Given the description of an element on the screen output the (x, y) to click on. 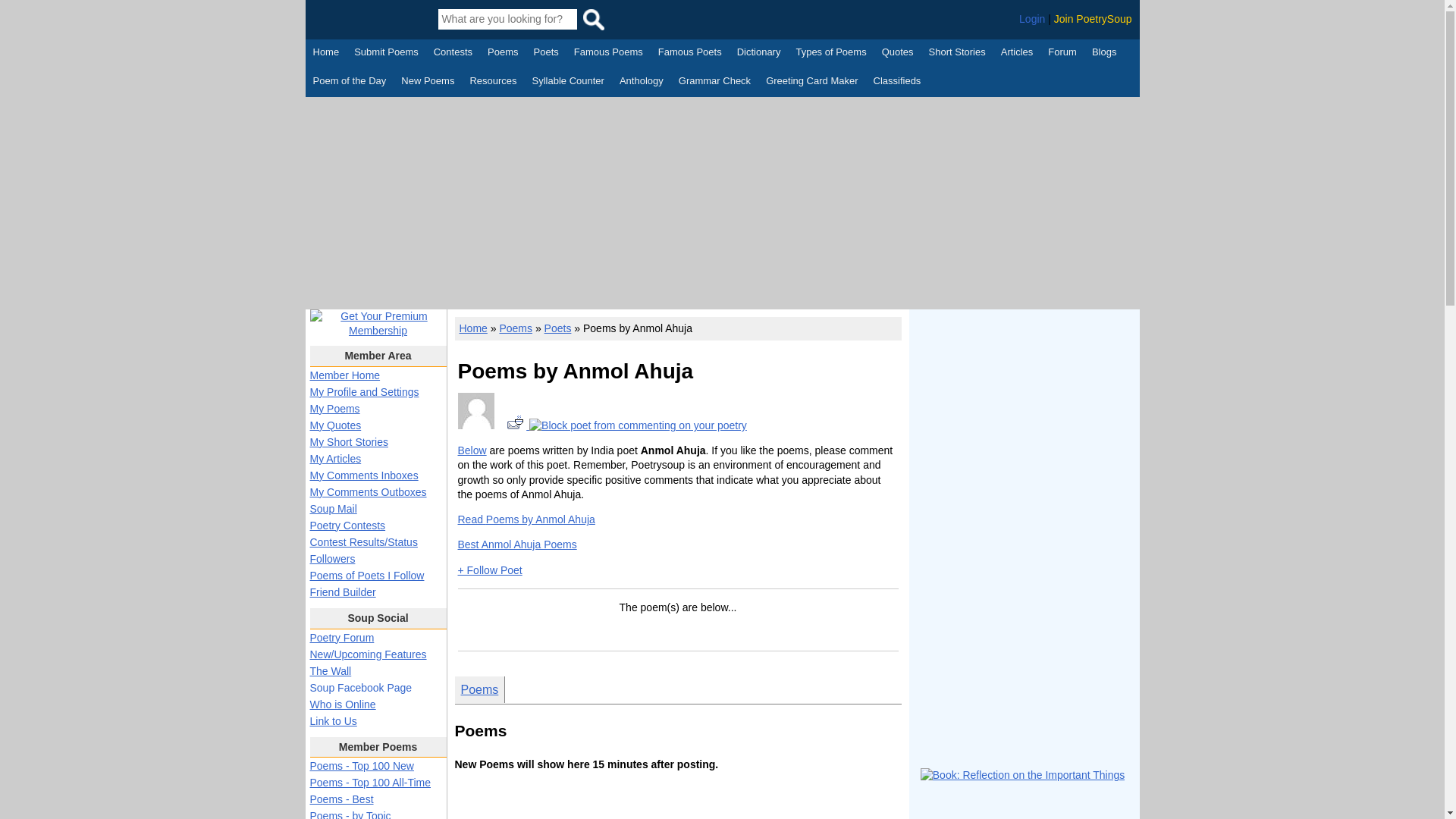
Login (1032, 19)
Greeting Card Maker (811, 82)
Short Stories (956, 53)
My Quotes (334, 425)
Submit Poems (386, 53)
Member Home (344, 375)
PoetrySoup Home Page (369, 19)
Poets (546, 53)
Syllable Counter (568, 82)
Grammar Check (714, 82)
Anthology (641, 82)
Resources (492, 82)
New Poems (427, 82)
Submit Poems (386, 53)
Poem of the Day (349, 82)
